Given the description of an element on the screen output the (x, y) to click on. 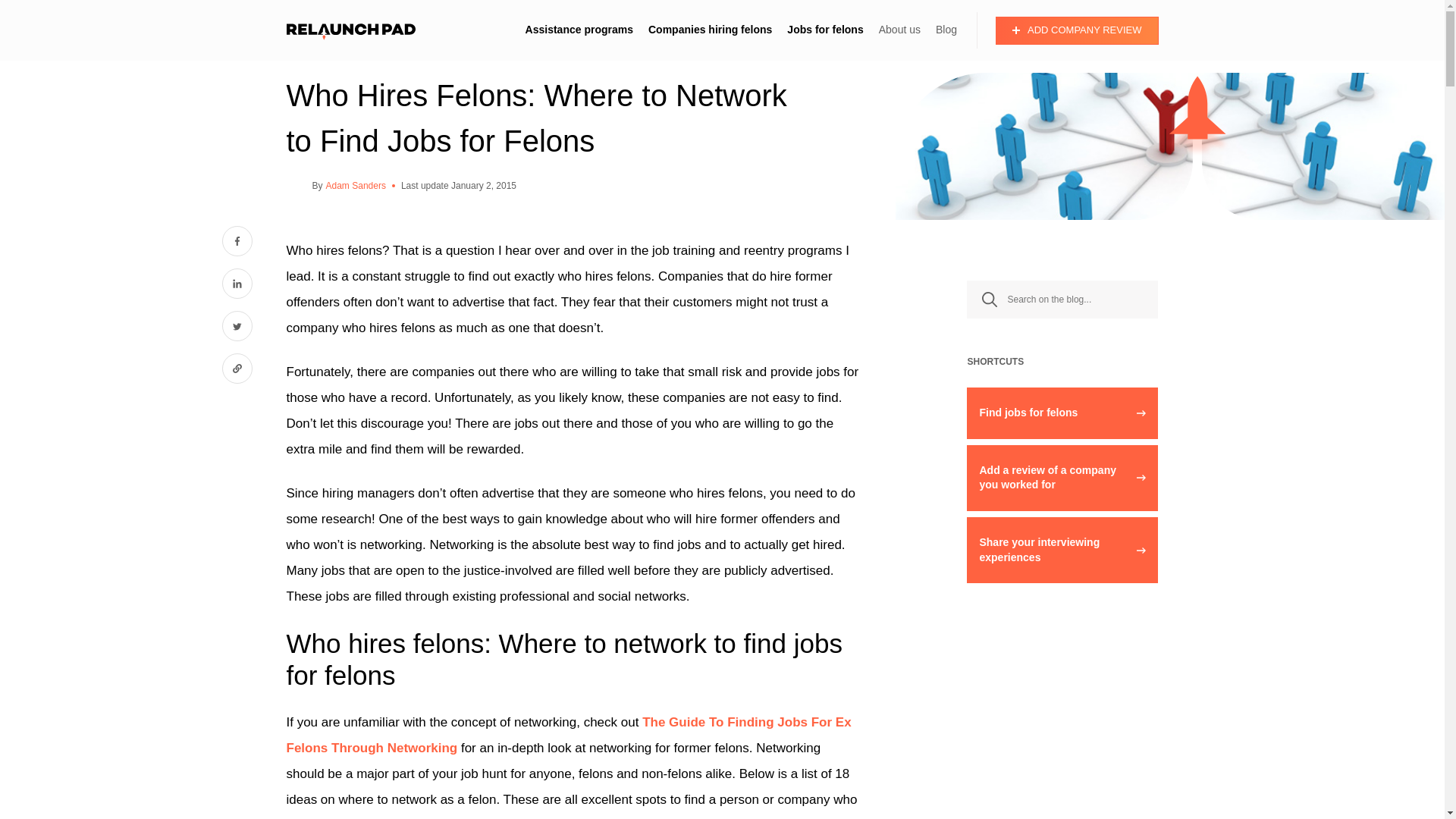
The Guide To Finding Jobs For Ex Felons Through Networking (568, 734)
Assistance programs (579, 30)
Companies hiring felons (709, 30)
Adam Sanders (355, 185)
ADD COMPANY REVIEW (1076, 30)
Jobs for felons (825, 30)
The Guide To Finding Jobs For Ex Felons Through Networking (568, 734)
